Given the description of an element on the screen output the (x, y) to click on. 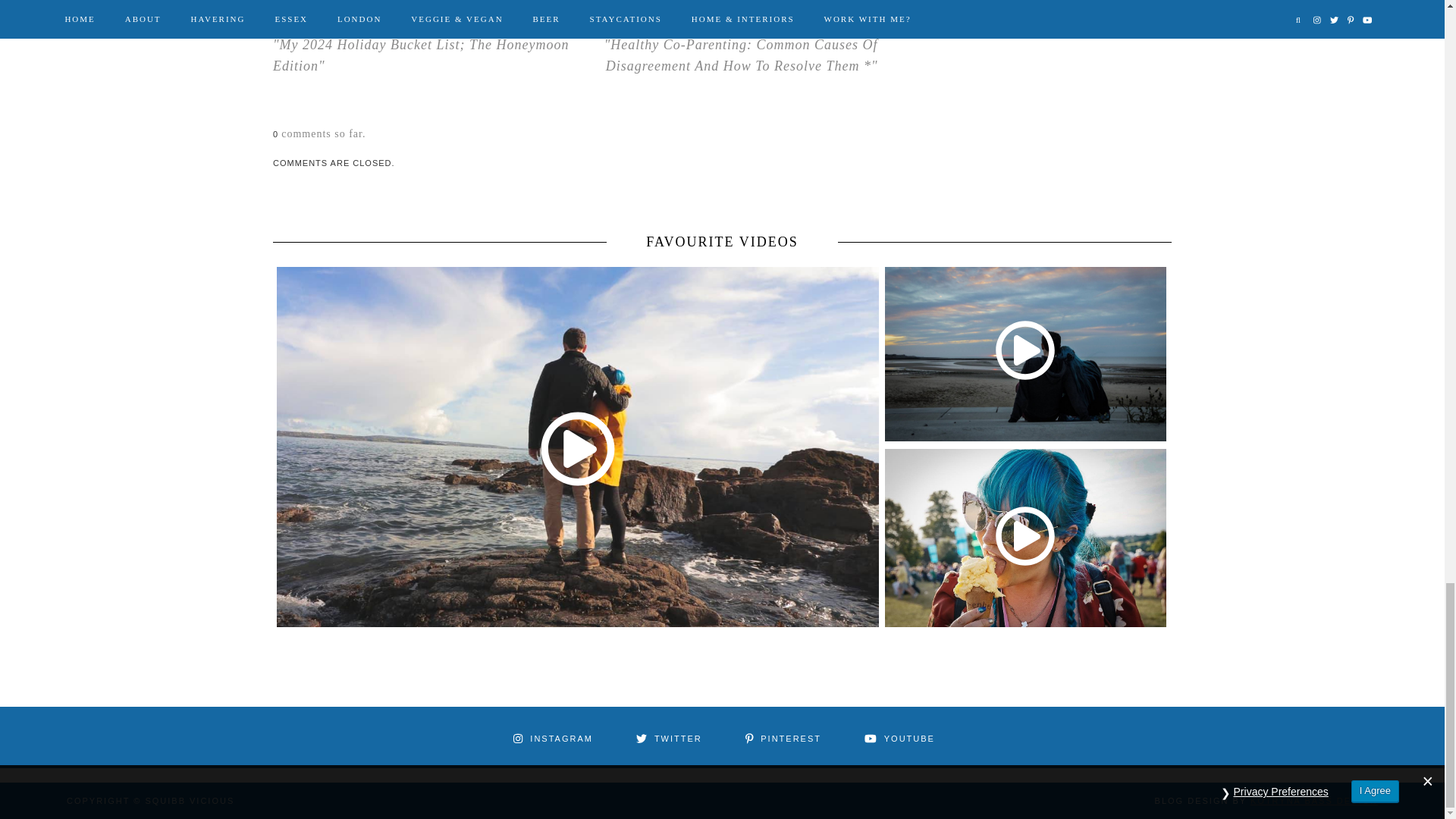
comments so far. (323, 133)
TWITTER (666, 737)
FAVOURITE VIDEOS (722, 241)
INSTAGRAM (551, 737)
PINTEREST (781, 737)
